Given the description of an element on the screen output the (x, y) to click on. 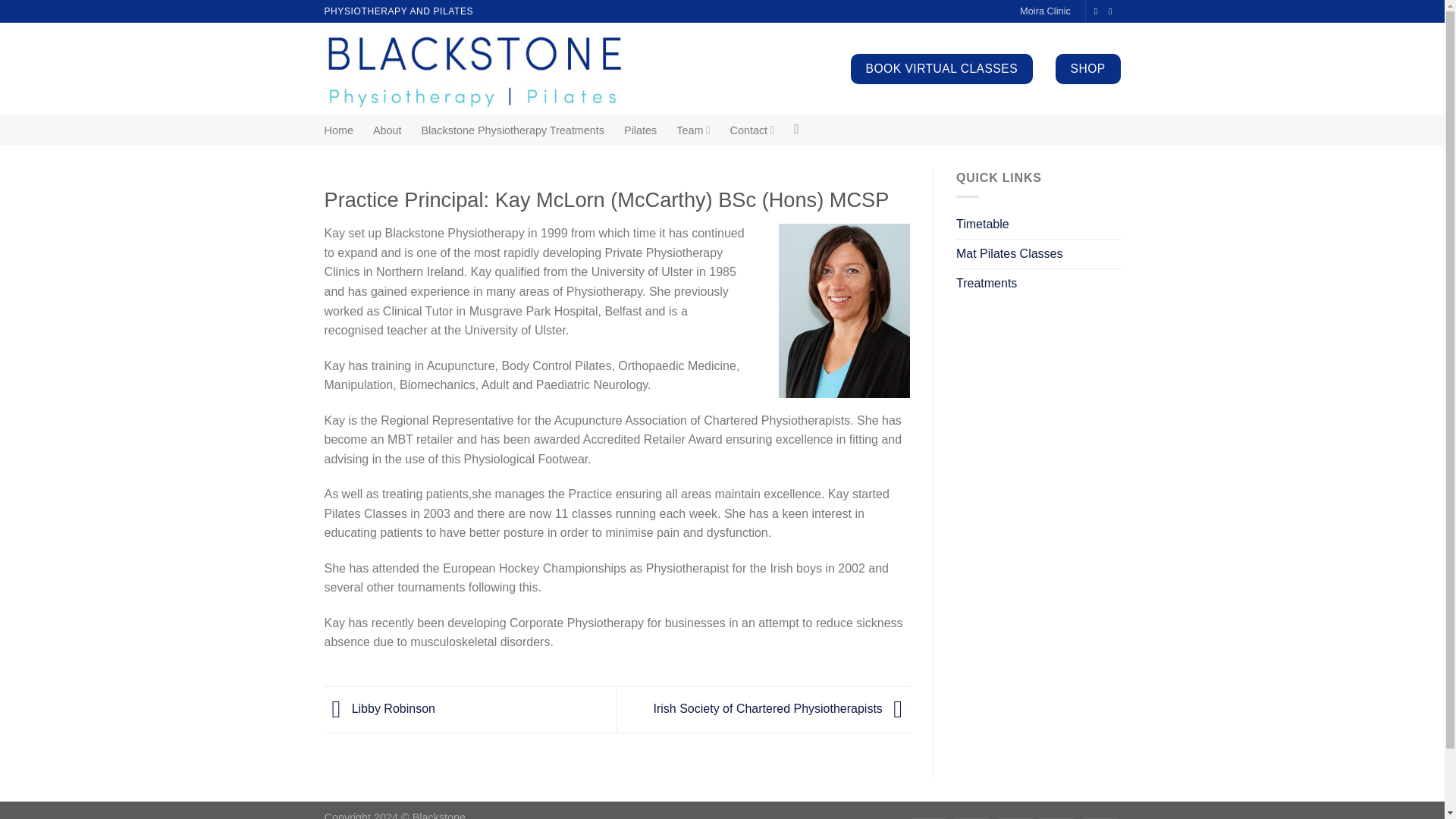
BOOK VIRTUAL CLASSES (941, 69)
Libby Robinson (379, 707)
Home (338, 130)
Blackstone Physiotherapy Treatments (513, 130)
Mat Pilates Classes (1009, 253)
Timetable (982, 224)
Moira Clinic (1045, 11)
Irish Society of Chartered Physiotherapists (782, 707)
SHOP (1088, 69)
About (386, 130)
